Given the description of an element on the screen output the (x, y) to click on. 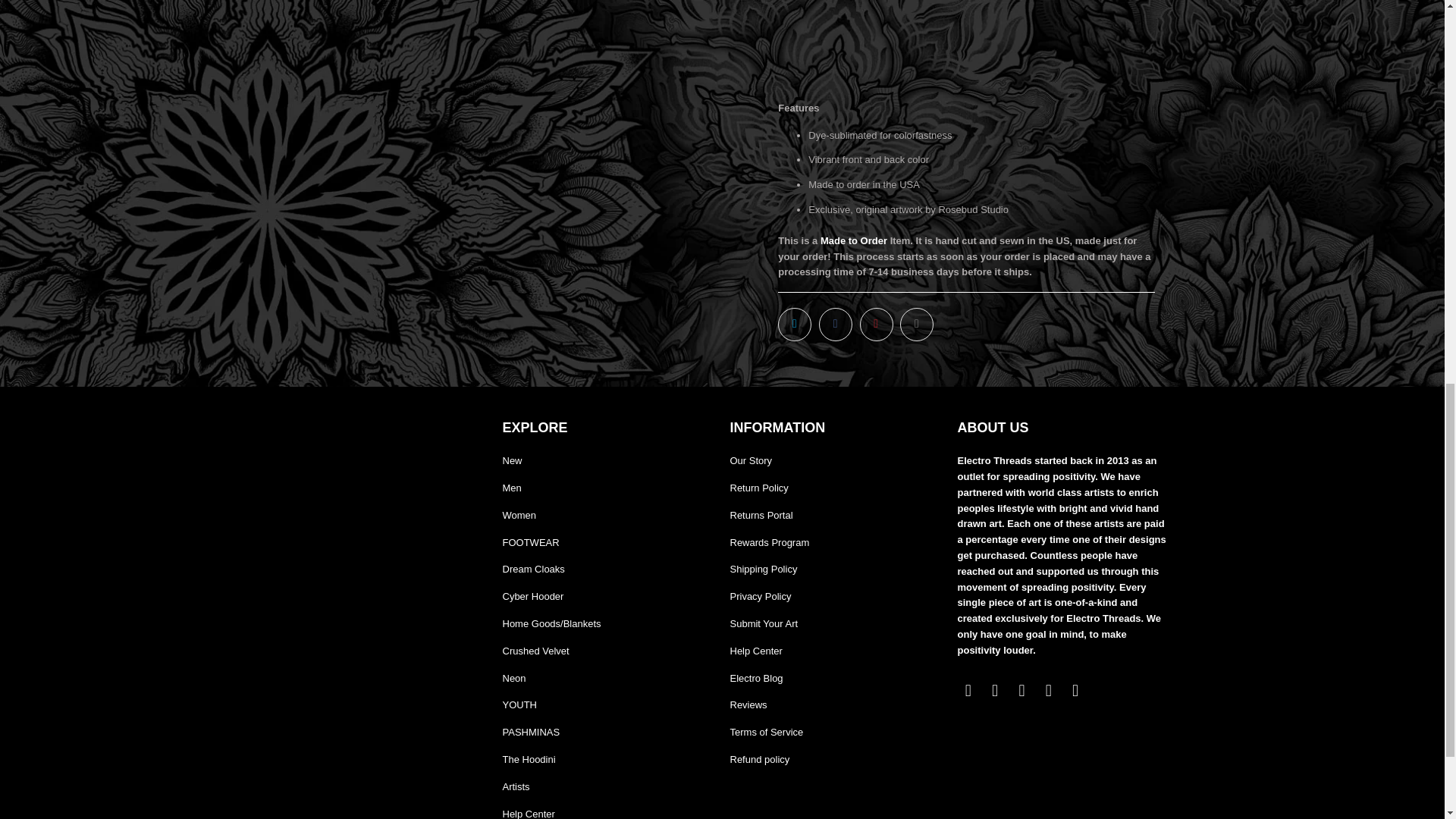
Share this on Facebook (834, 324)
Share this on Twitter (793, 324)
Made to Order (853, 240)
Email this to a friend (916, 324)
Share this on Pinterest (876, 324)
